Given the description of an element on the screen output the (x, y) to click on. 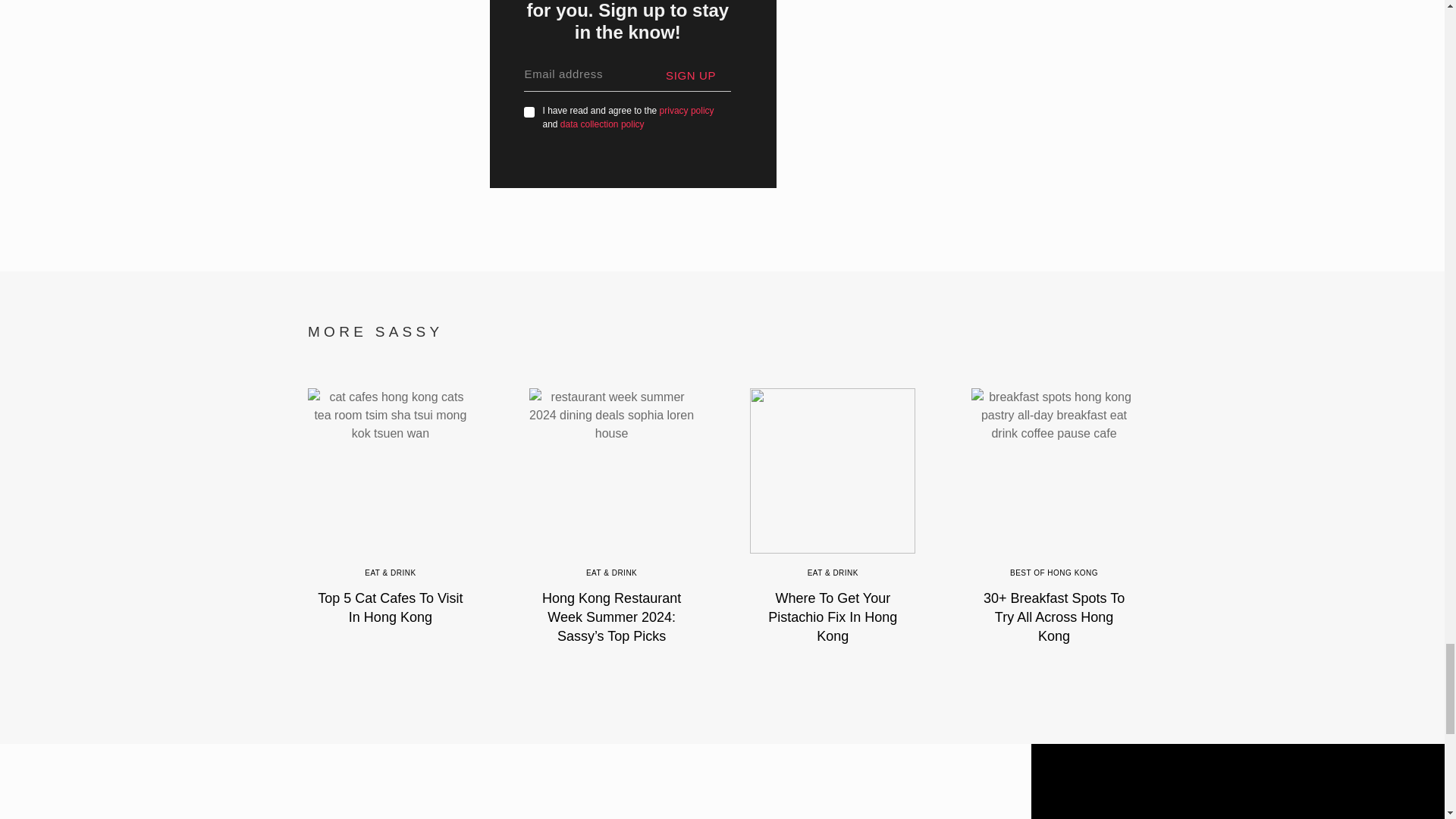
on (529, 112)
Sign Up (697, 75)
